Given the description of an element on the screen output the (x, y) to click on. 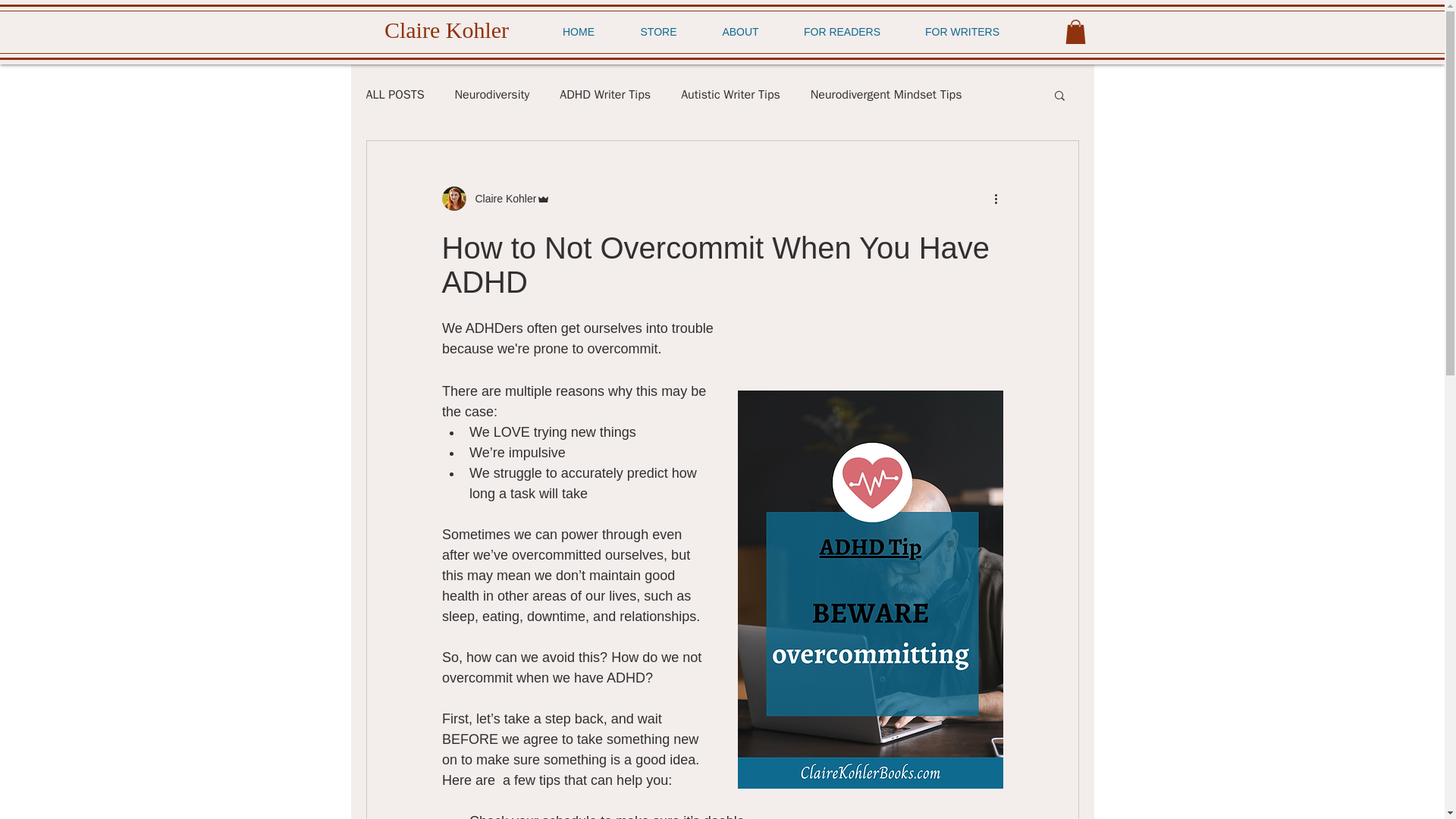
ADHD Writer Tips (604, 94)
Neurodiversity (491, 94)
ABOUT (739, 31)
ALL POSTS (394, 94)
HOME (578, 31)
Autistic Writer Tips (730, 94)
Neurodivergent Mindset Tips (886, 94)
Claire Kohler (495, 198)
Claire Kohler (500, 198)
STORE (657, 31)
